Given the description of an element on the screen output the (x, y) to click on. 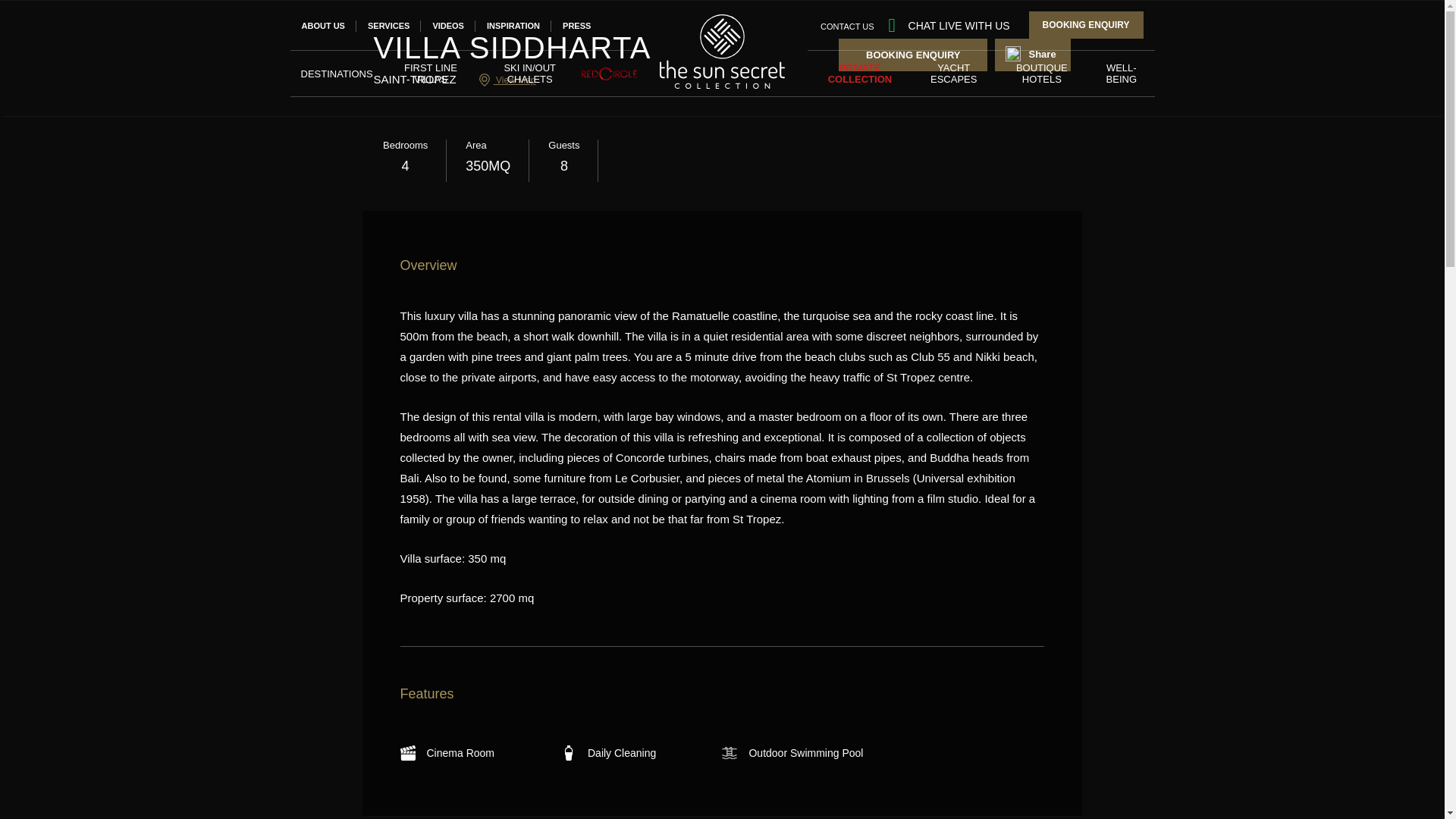
BOUTIQUE HOTELS (1041, 73)
INSPIRATION (513, 25)
BOOKING ENQUIRY (1085, 24)
DESTINATIONS (335, 73)
PRIVATE COLLECTION (860, 73)
CONTACT US (848, 25)
YACHT ESCAPES (953, 73)
PRESS (576, 25)
ABOUT US (323, 25)
